Given the description of an element on the screen output the (x, y) to click on. 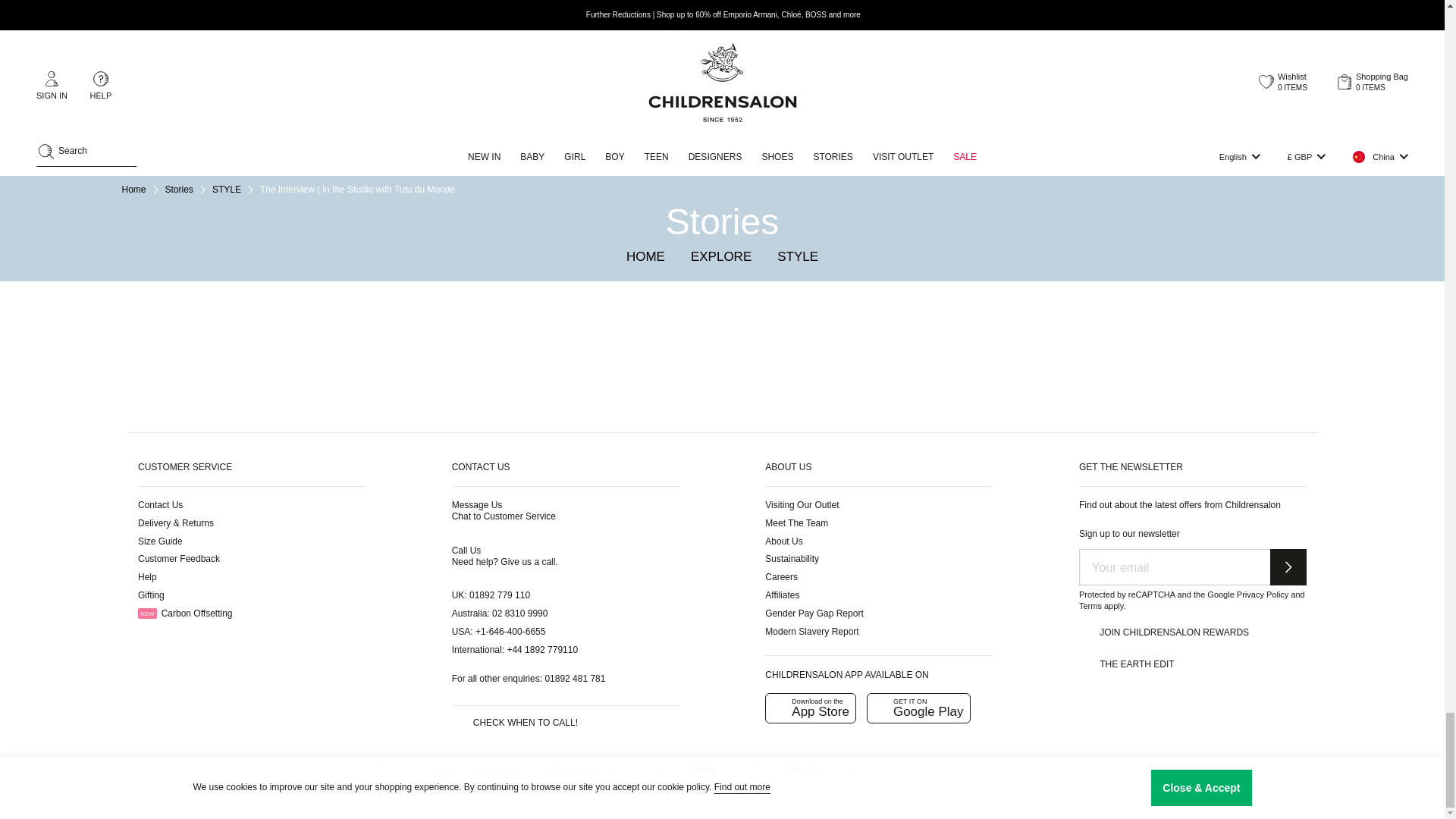
Pinterest (258, 775)
TikTok (332, 775)
Twitter (183, 775)
Instagram (220, 775)
Facebook (146, 775)
Youtube (295, 775)
